Given the description of an element on the screen output the (x, y) to click on. 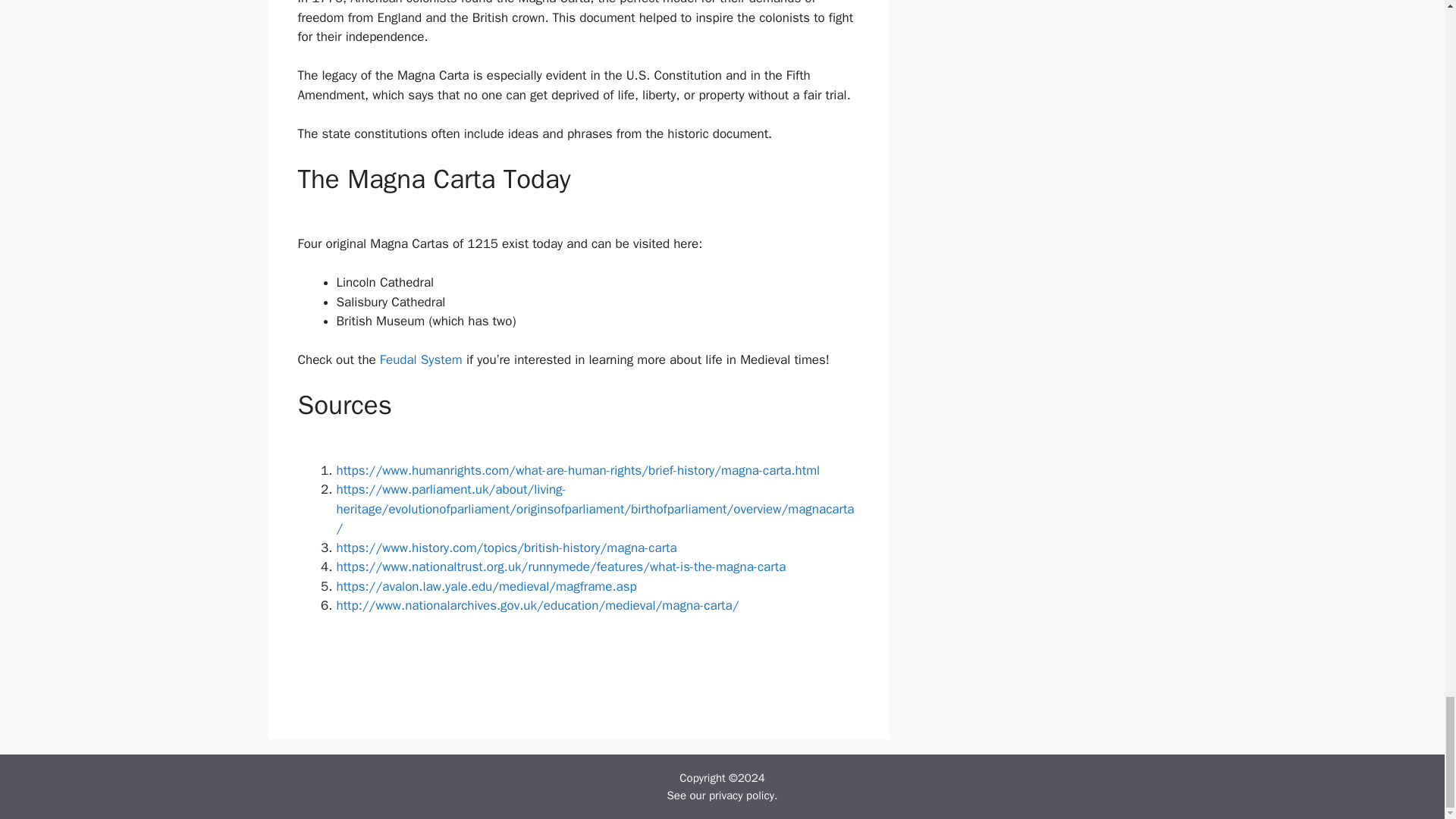
Feudal System (421, 359)
